Given the description of an element on the screen output the (x, y) to click on. 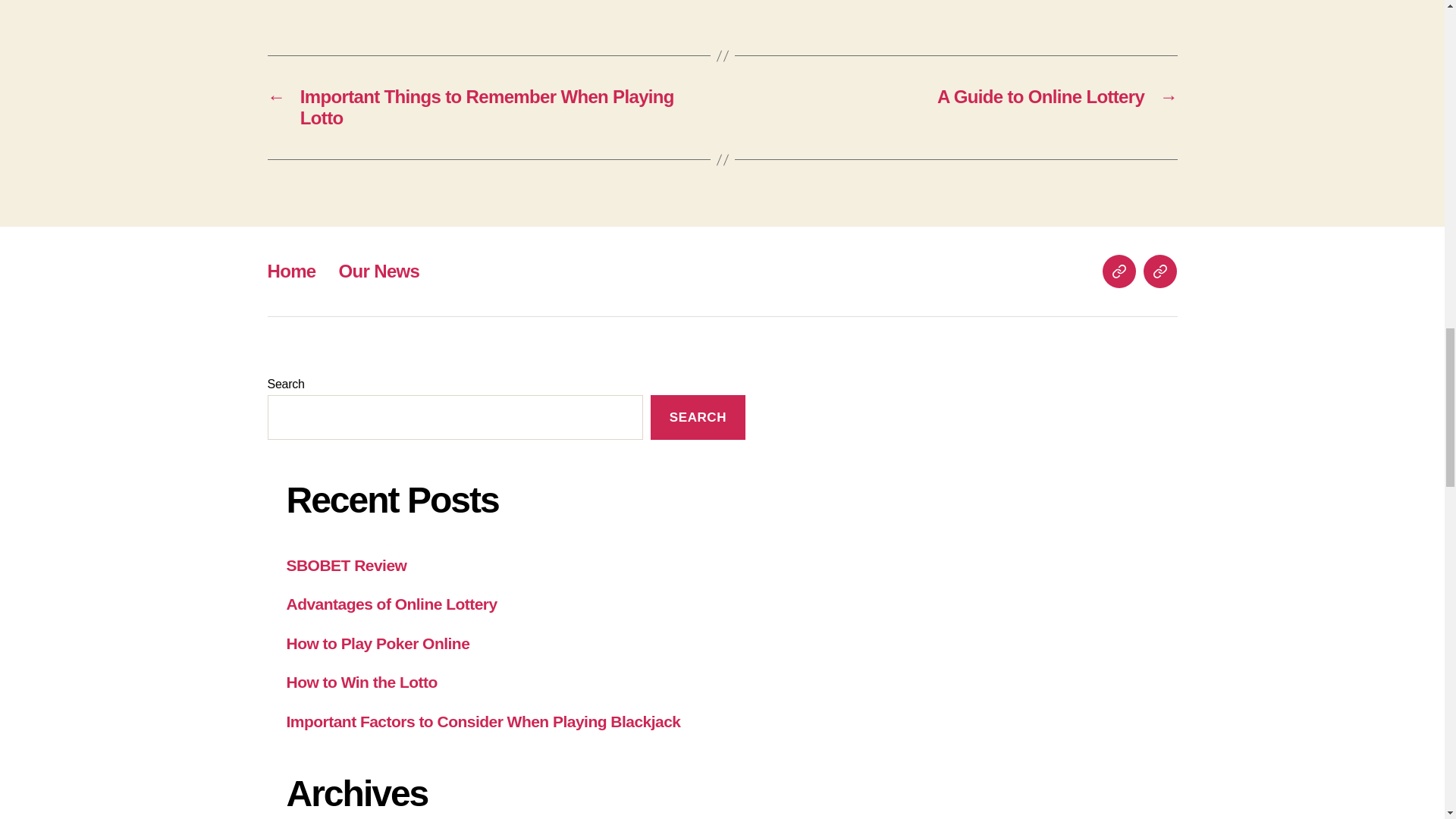
Important Factors to Consider When Playing Blackjack (483, 721)
Home (290, 271)
How to Win the Lotto (362, 682)
Our News (379, 271)
How to Play Poker Online (378, 642)
Our News (1159, 271)
SBOBET Review (346, 565)
SEARCH (697, 416)
Home (1118, 271)
Advantages of Online Lottery (391, 603)
